Given the description of an element on the screen output the (x, y) to click on. 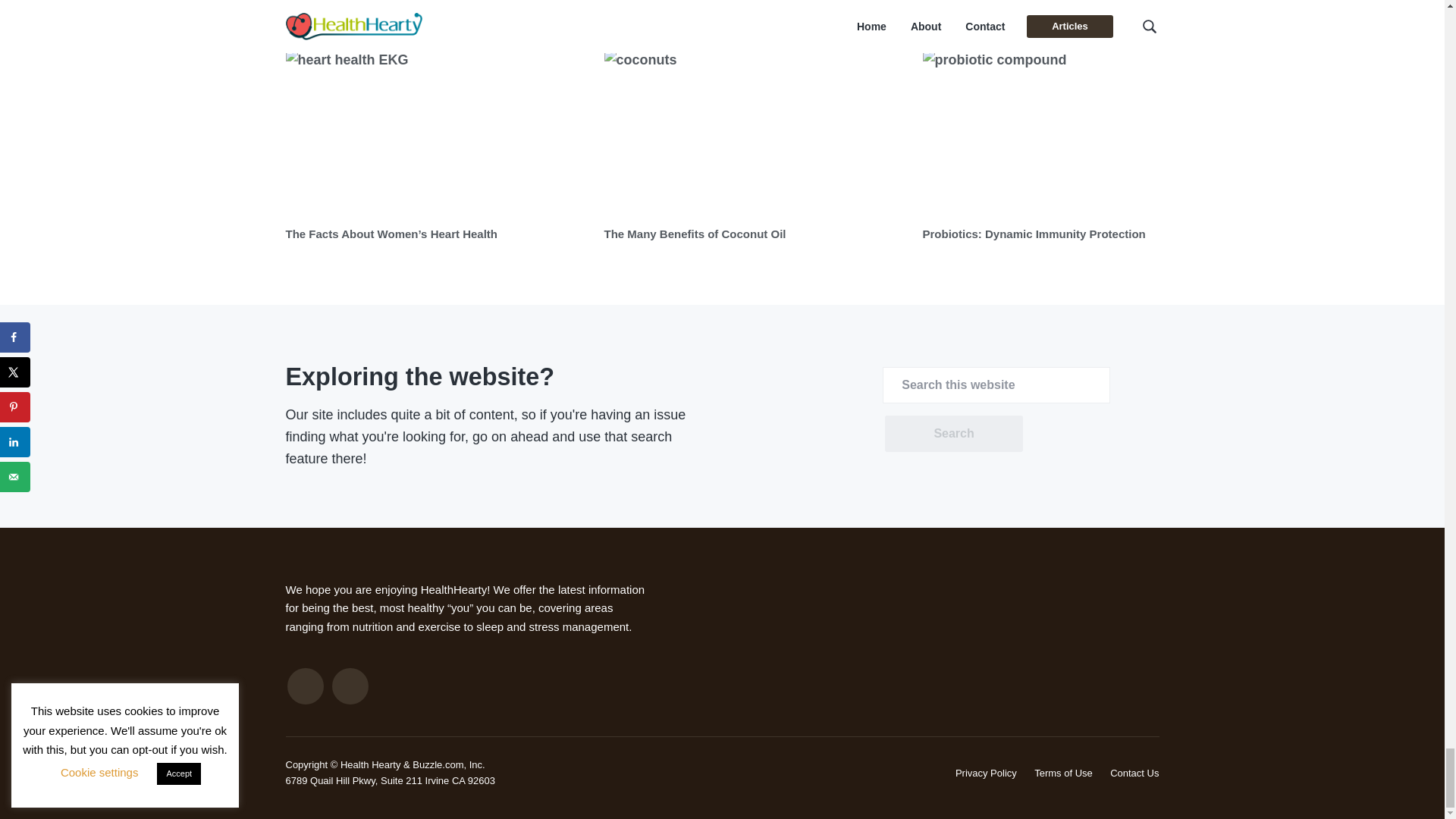
Search (953, 433)
Search (953, 433)
Privacy Policy (985, 772)
Search (953, 433)
The Many Benefits of Coconut Oil (695, 233)
Probiotics: Dynamic Immunity Protection (1032, 233)
